Given the description of an element on the screen output the (x, y) to click on. 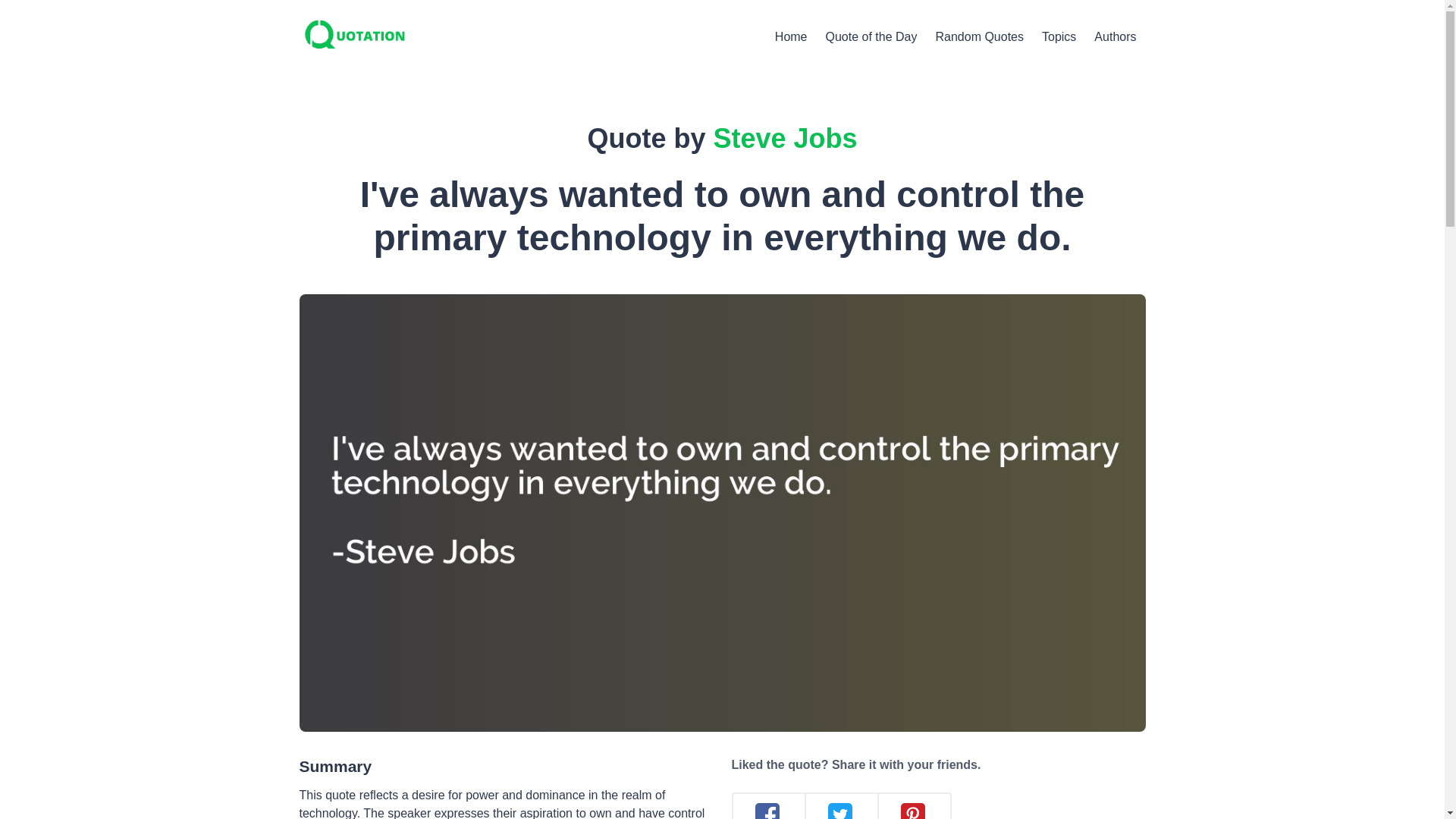
Quote of the Day (871, 36)
Steve Jobs (785, 137)
Topics (1058, 36)
Random Quotes (979, 36)
Authors (1114, 36)
Home (790, 36)
